Given the description of an element on the screen output the (x, y) to click on. 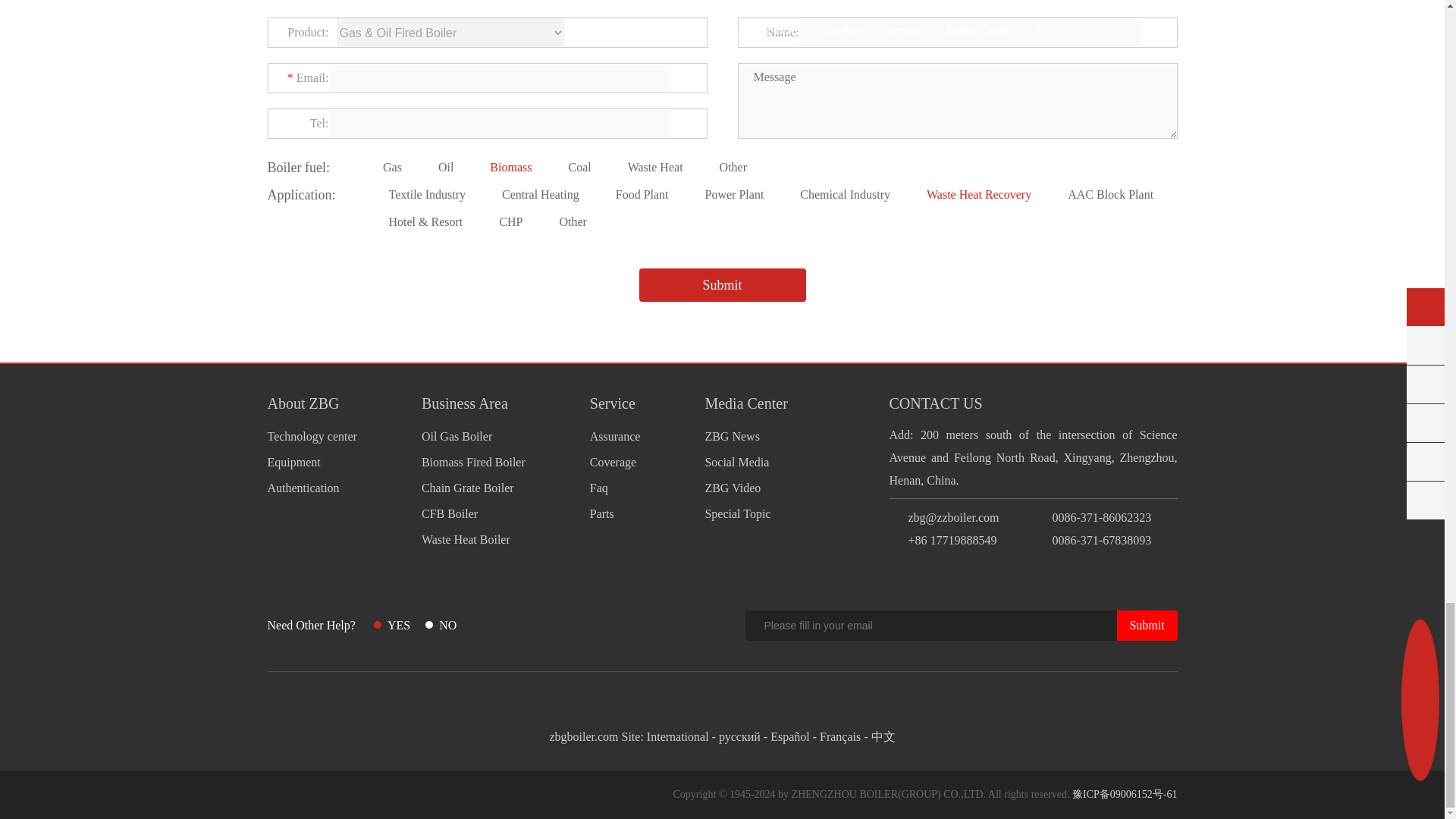
Submit (722, 285)
